Given the description of an element on the screen output the (x, y) to click on. 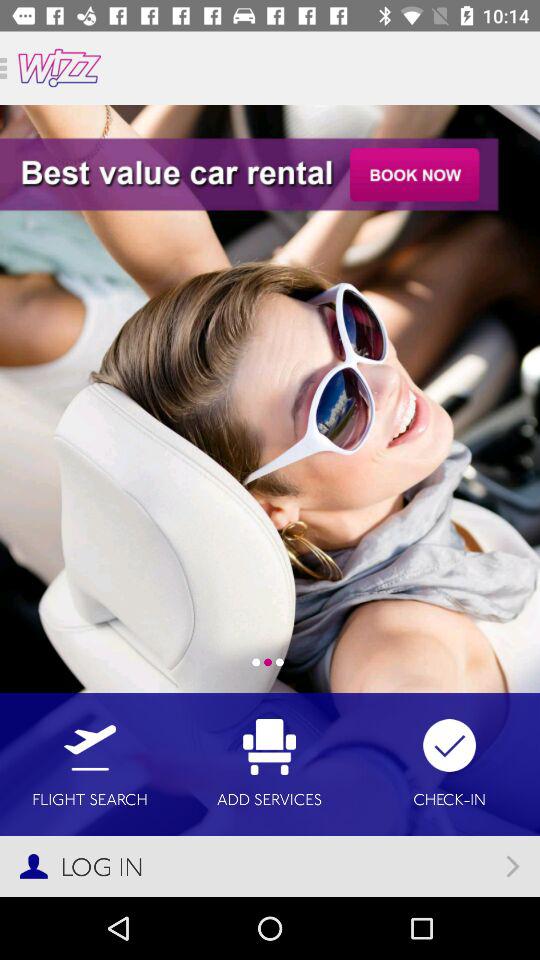
select add services icon (269, 764)
